Given the description of an element on the screen output the (x, y) to click on. 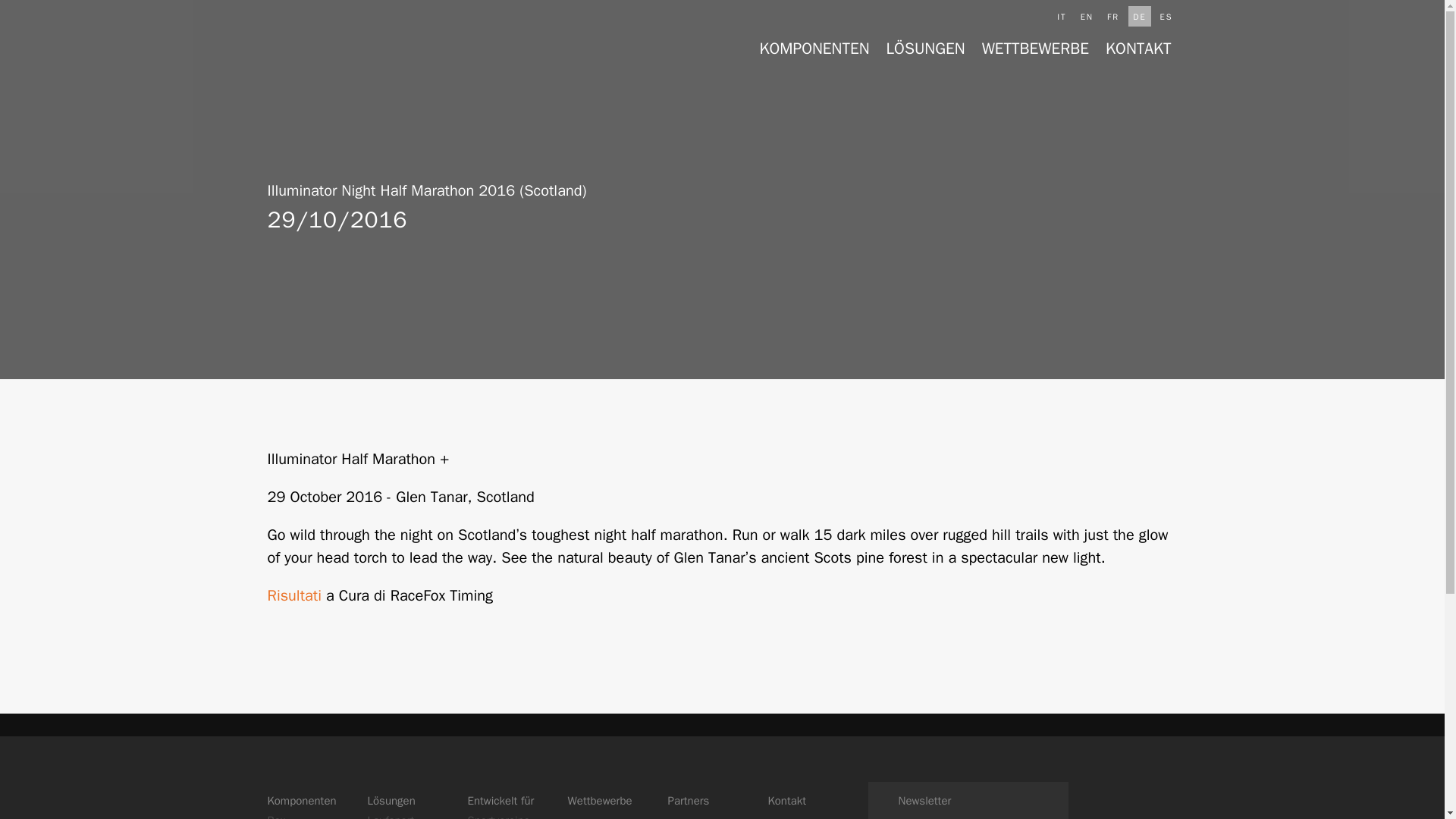
Laufsport (389, 816)
Kontakt (786, 800)
WETTBEWERBE (1035, 48)
KOMPONENTEN (813, 48)
Sportvereine (498, 816)
Komponenten (301, 800)
ES (1166, 15)
Risultati (293, 595)
Box (275, 816)
FR (1113, 15)
